Given the description of an element on the screen output the (x, y) to click on. 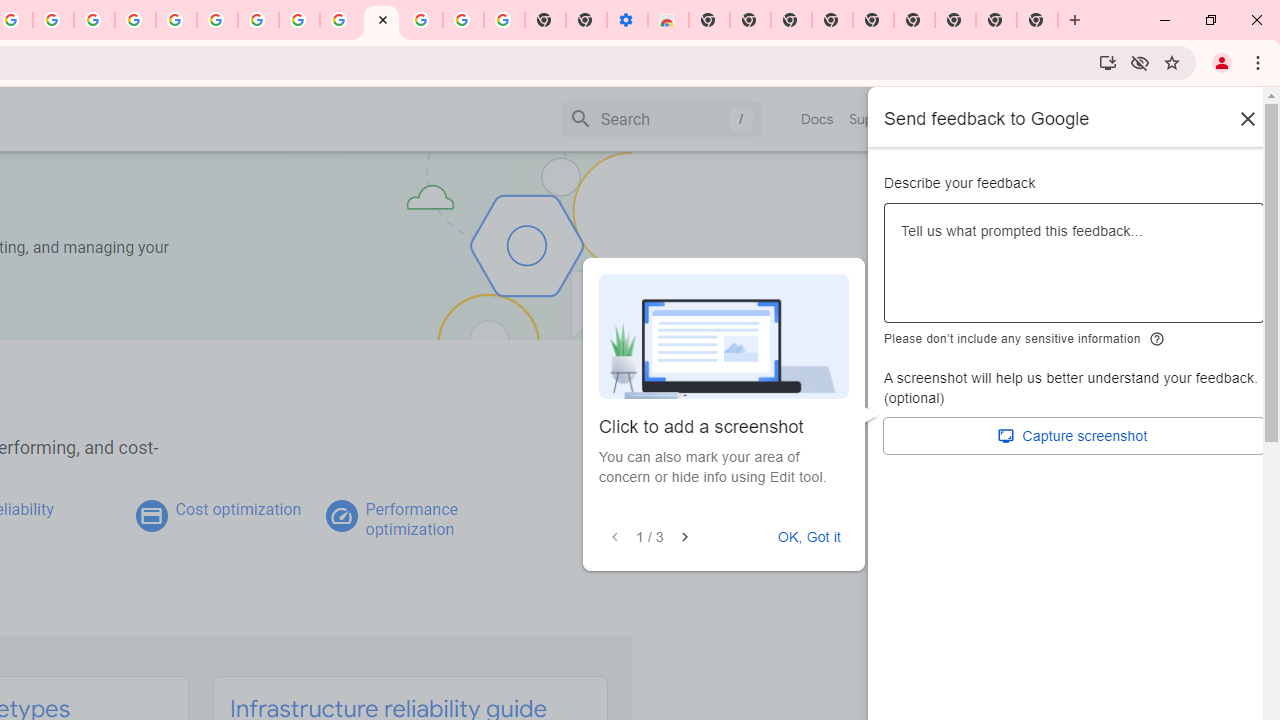
New Tab (955, 20)
Search (660, 118)
Describe your feedback (1074, 271)
Capture screenshot (1074, 436)
Next (684, 537)
Cost optimization (238, 509)
Performance optimization (411, 519)
Third-party cookies blocked (1139, 62)
Google Account Help (217, 20)
New Tab (1037, 20)
Chrome Web Store - Accessibility extensions (667, 20)
